Given the description of an element on the screen output the (x, y) to click on. 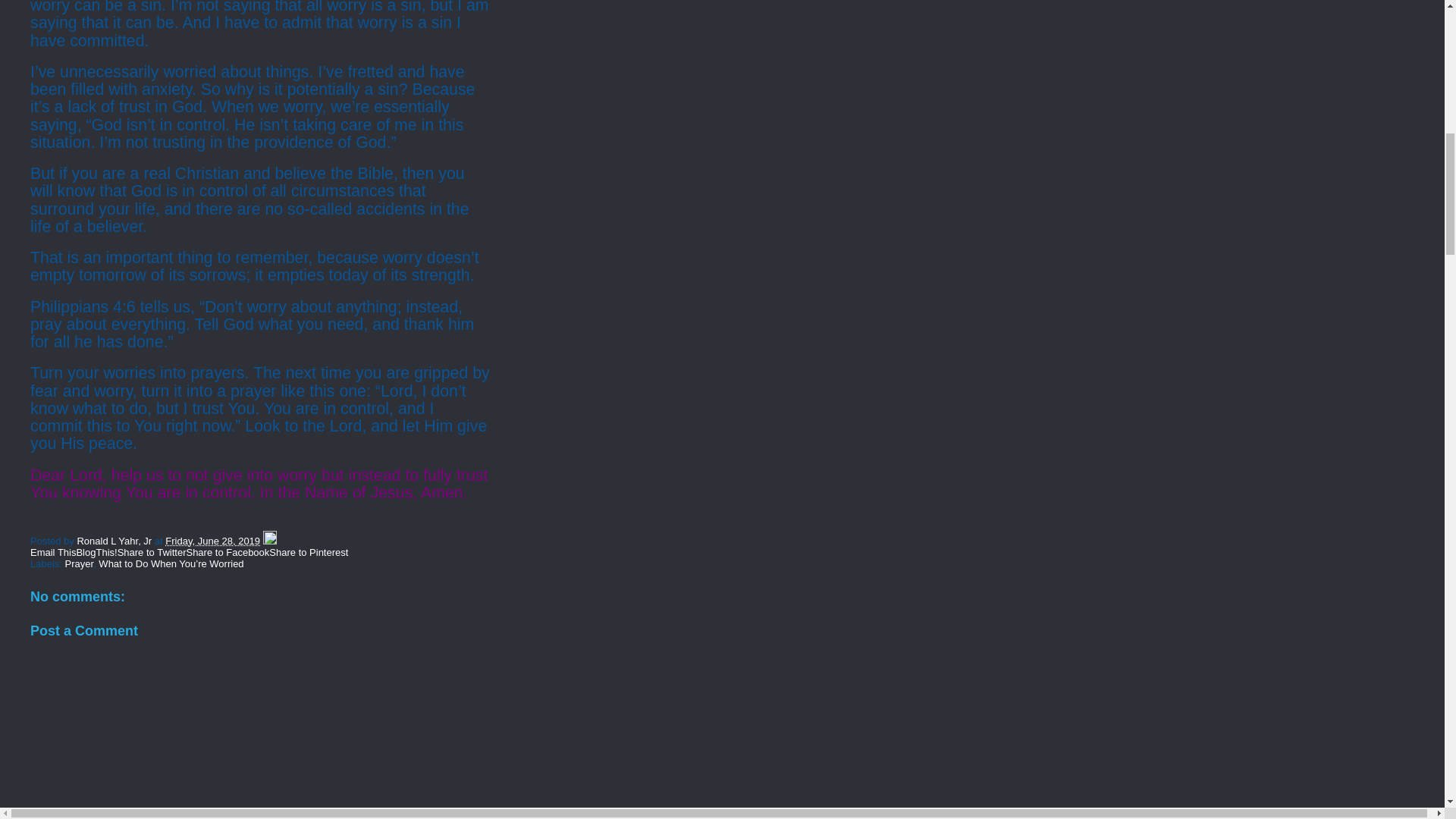
BlogThis! (95, 552)
Ronald L Yahr, Jr (115, 541)
Share to Pinterest (308, 552)
Share to Twitter (151, 552)
Friday, June 28, 2019 (212, 541)
Prayer (79, 563)
BlogThis! (95, 552)
Email This (52, 552)
Edit Post (269, 541)
author profile (115, 541)
permanent link (212, 541)
Share to Pinterest (308, 552)
Share to Facebook (227, 552)
Share to Facebook (227, 552)
Share to Twitter (151, 552)
